Given the description of an element on the screen output the (x, y) to click on. 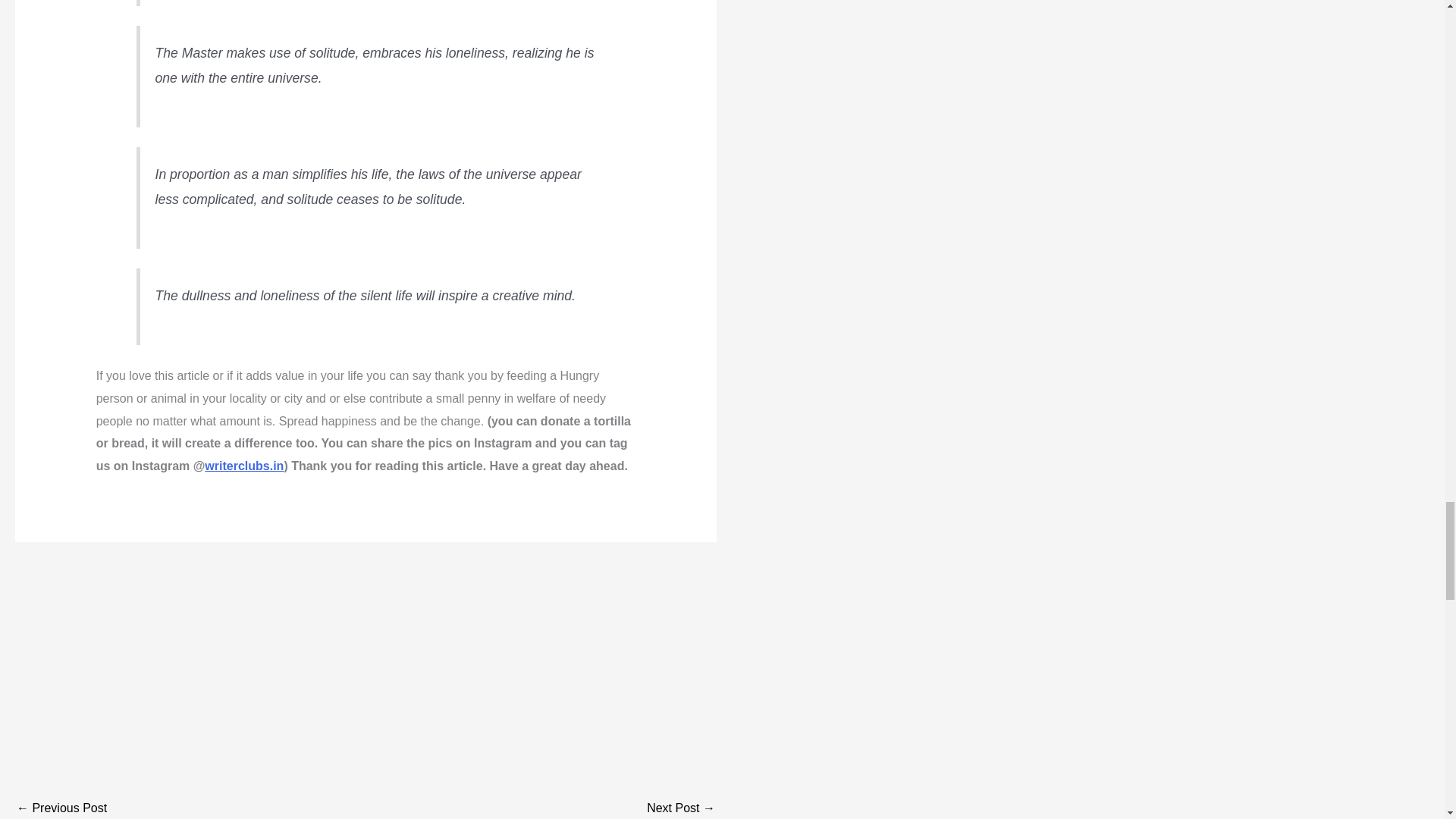
21 Succulent quotes and captions (680, 807)
33 Small steps quotes to make the big impact in life (61, 807)
